Given the description of an element on the screen output the (x, y) to click on. 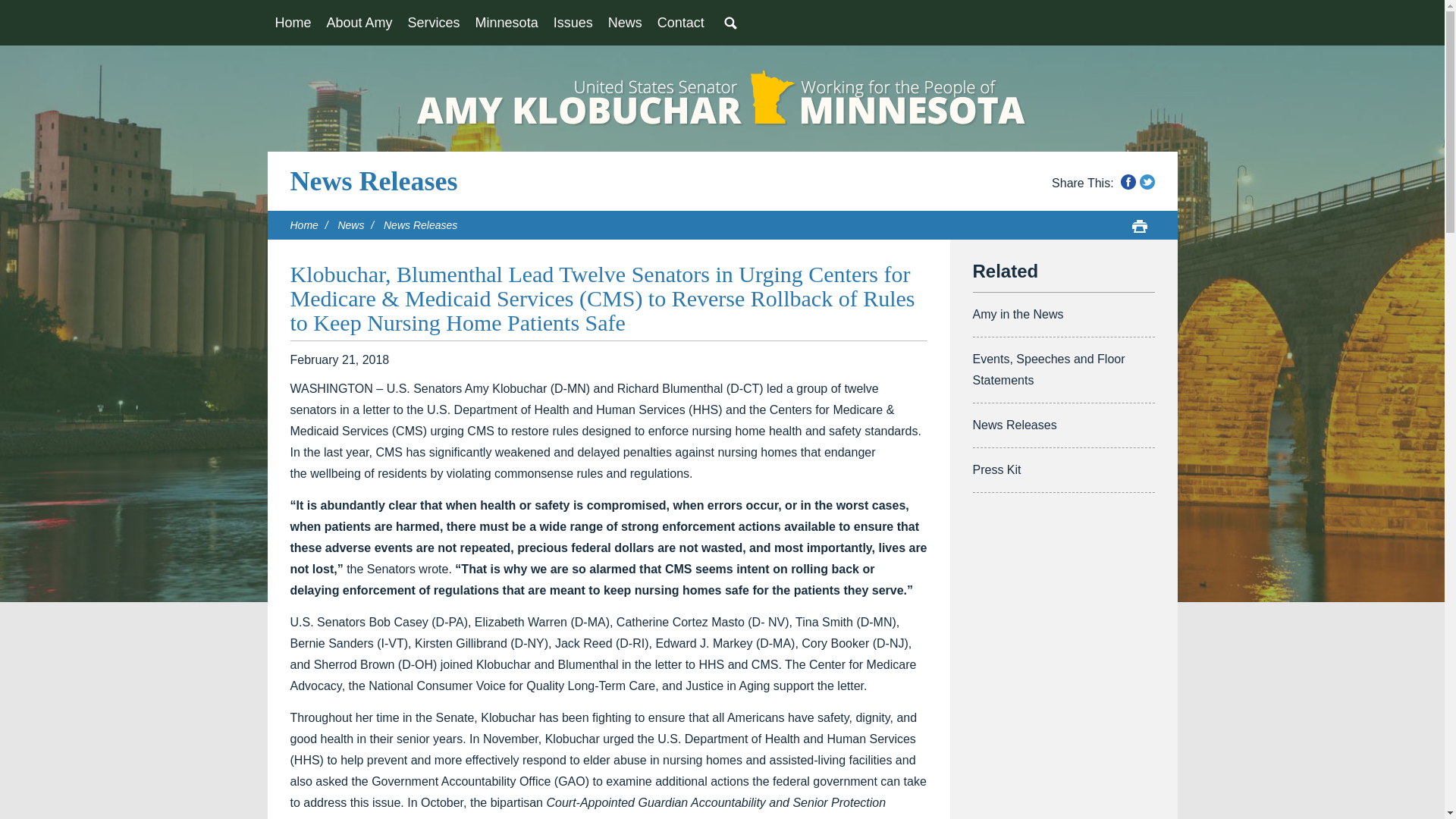
Services (433, 22)
Minnesota (506, 22)
About Amy (359, 22)
Issues (572, 22)
Home (292, 22)
